Given the description of an element on the screen output the (x, y) to click on. 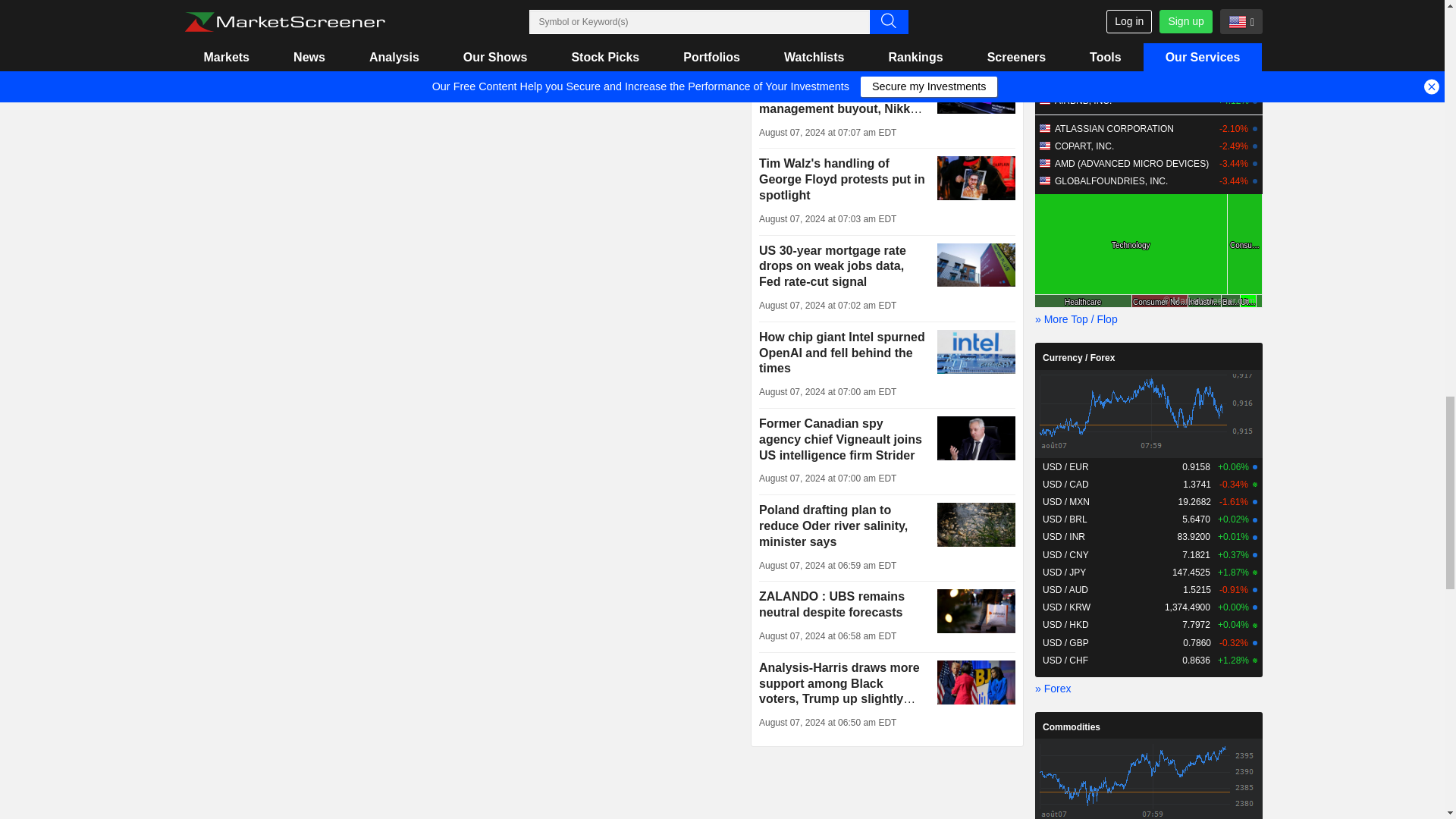
on (199, 19)
on (199, 45)
